Given the description of an element on the screen output the (x, y) to click on. 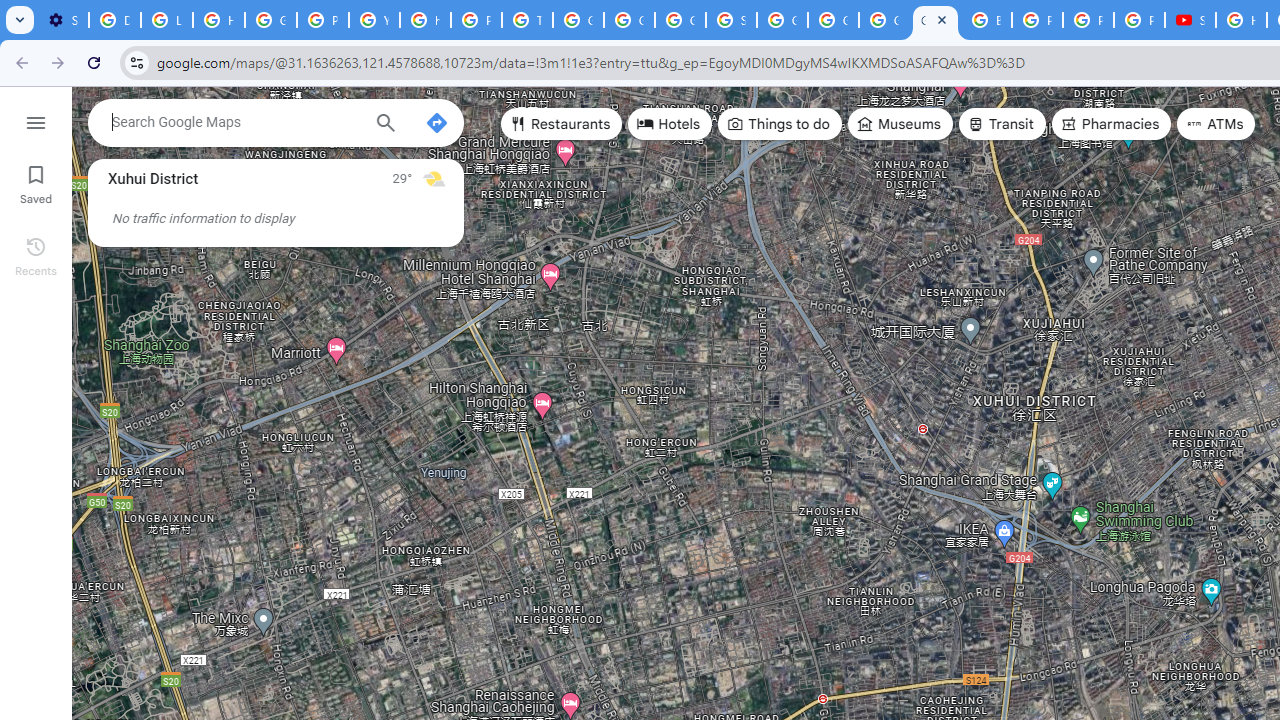
ATMs (1216, 124)
